Given the description of an element on the screen output the (x, y) to click on. 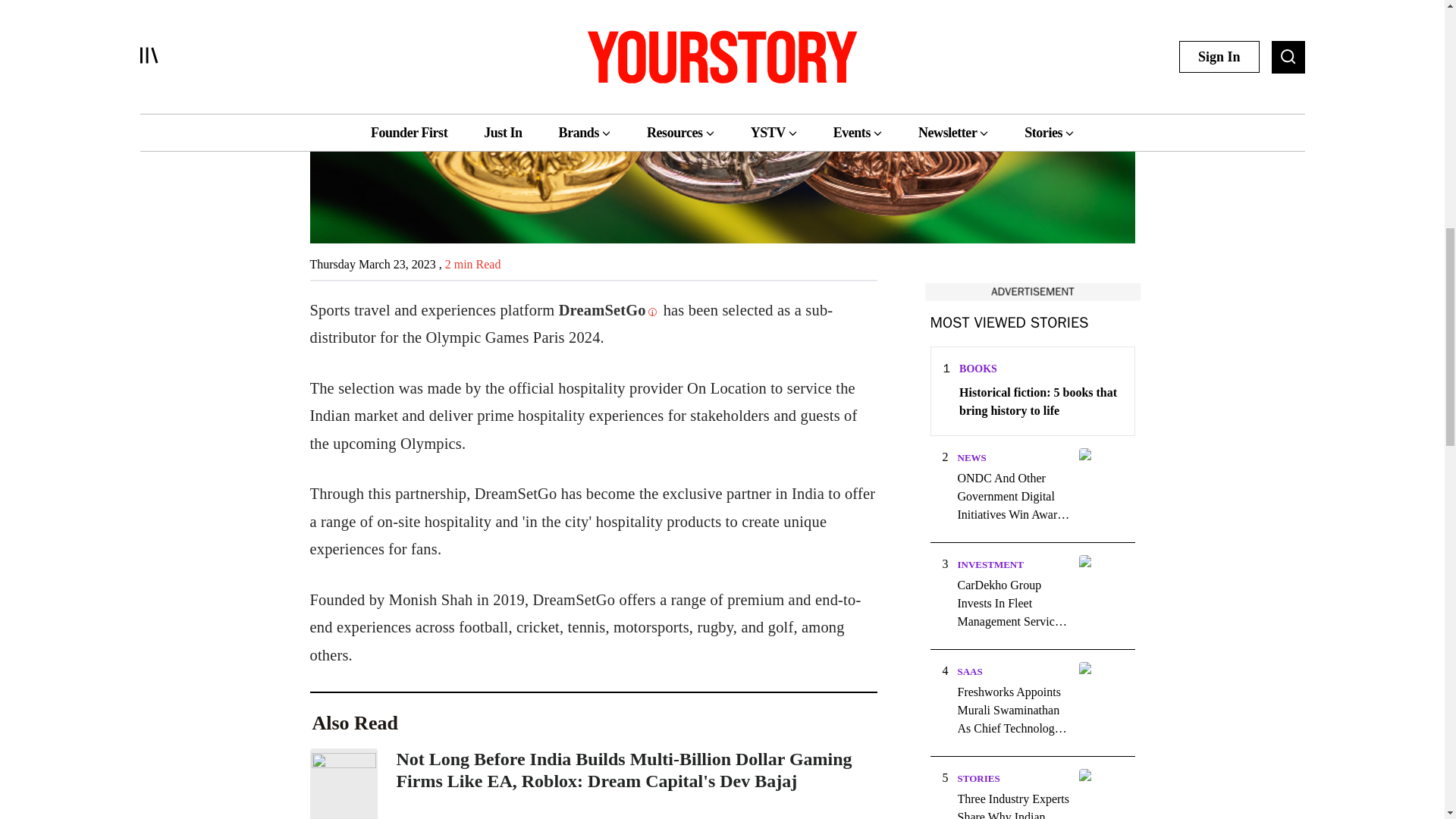
BOOKS (978, 368)
NEWS (970, 457)
Historical fiction: 5 books that bring history to life (1040, 402)
INVESTMENT (989, 564)
SAAS (968, 671)
